Given the description of an element on the screen output the (x, y) to click on. 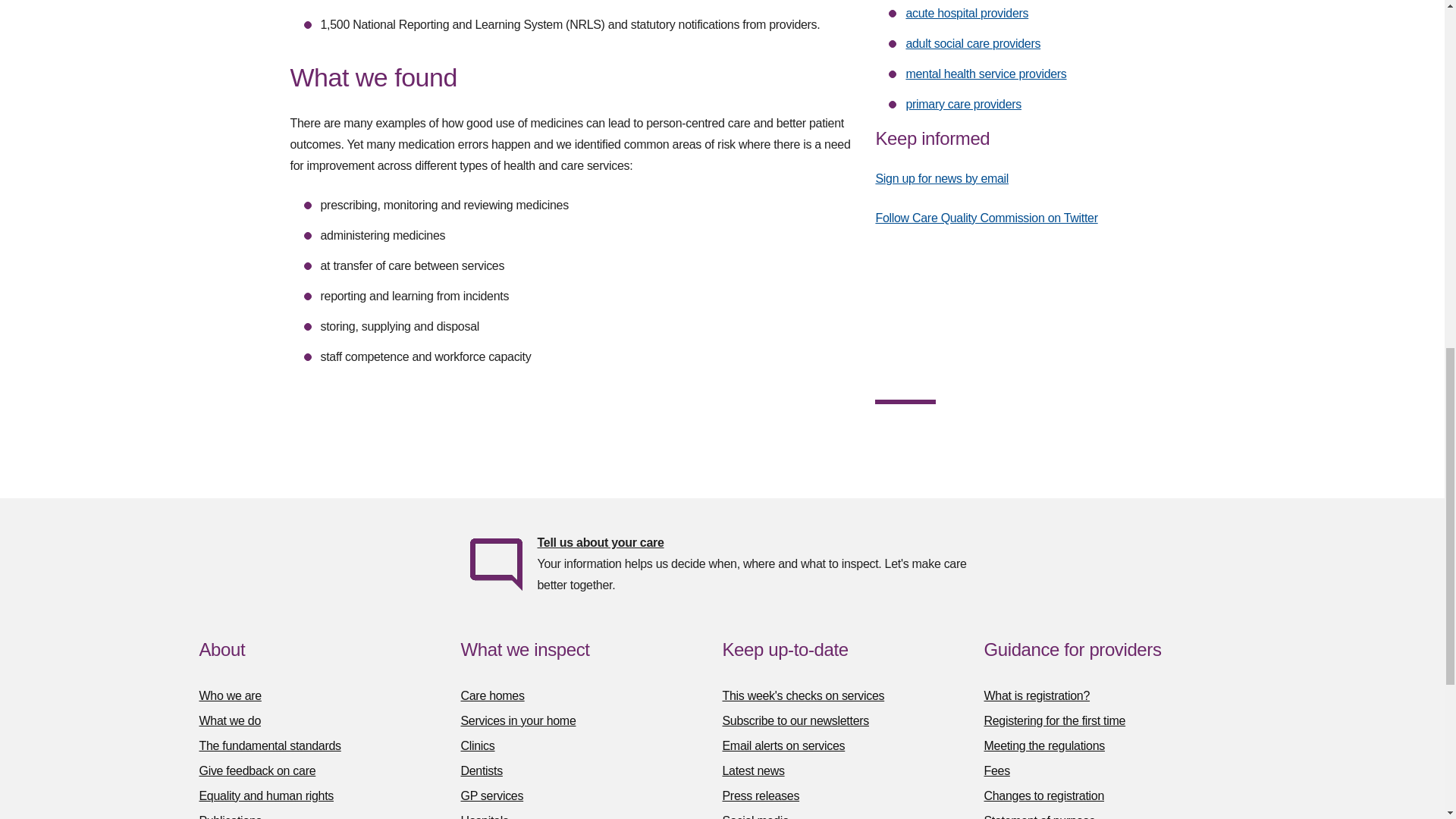
Follow Care Quality Commission on Twitter (986, 217)
Sign up for news by email (942, 178)
primary care providers (963, 103)
mental health service providers (985, 73)
acute hospital providers (966, 12)
adult social care providers (973, 42)
